Given the description of an element on the screen output the (x, y) to click on. 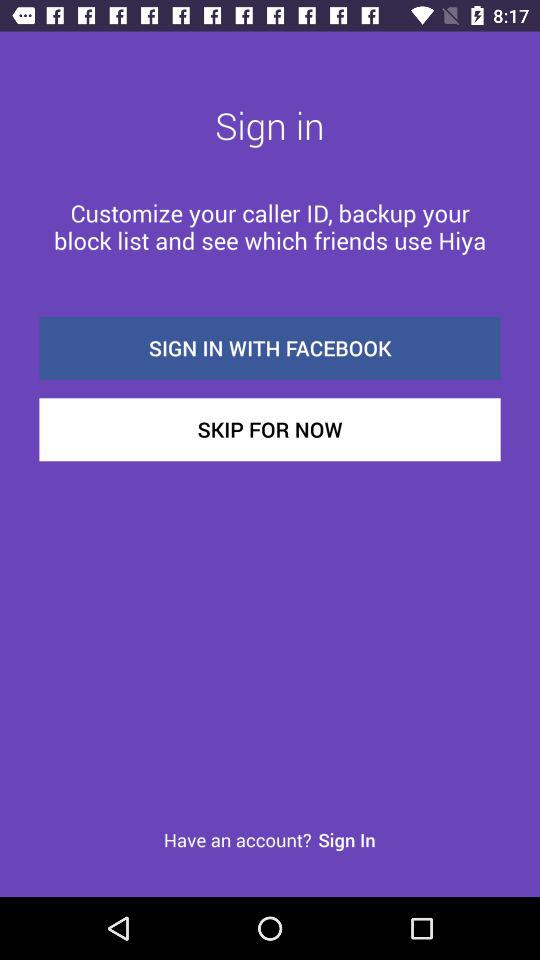
choose the item below sign in with (269, 429)
